Given the description of an element on the screen output the (x, y) to click on. 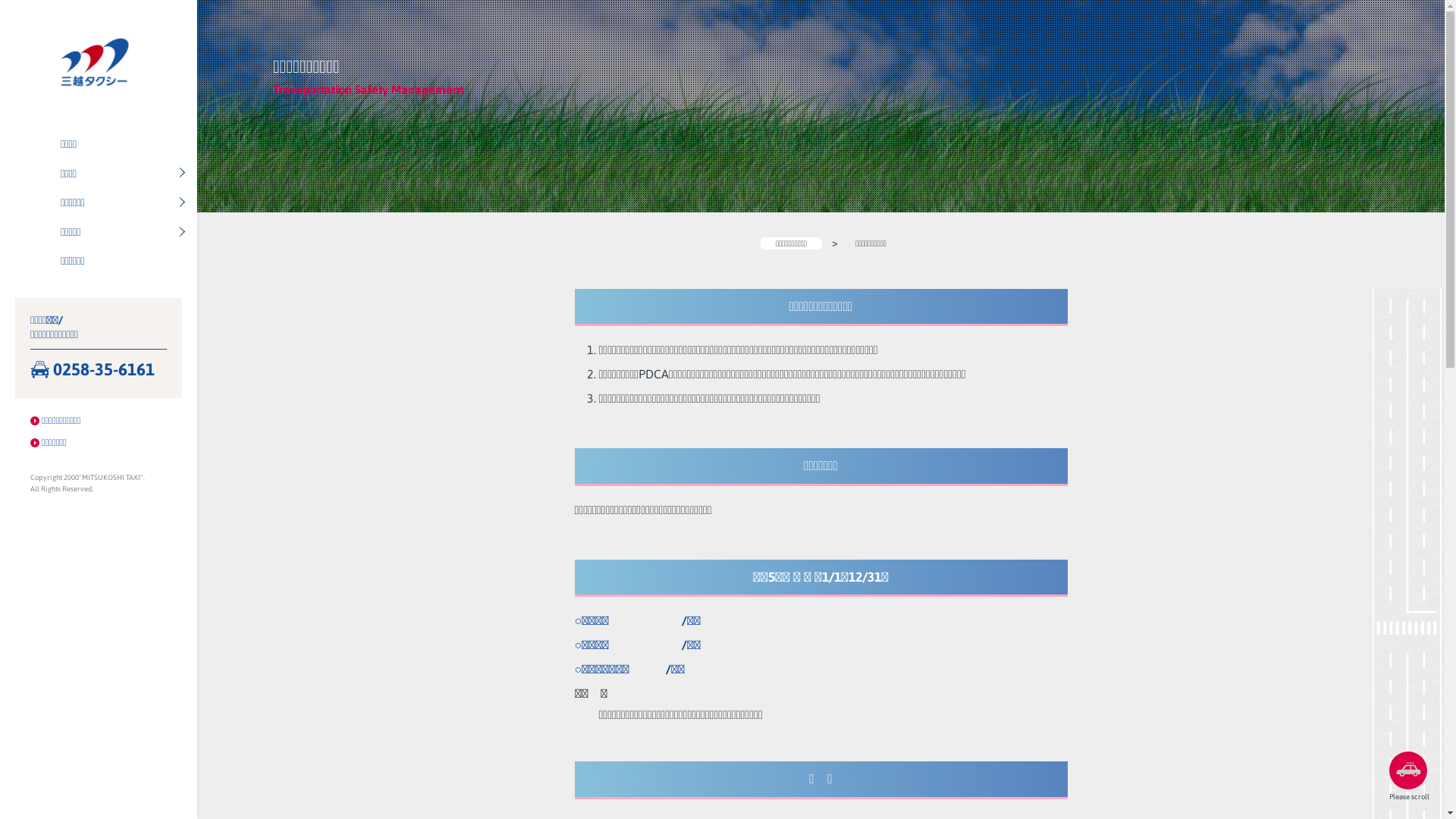
0258-35-6161 Element type: text (98, 369)
